Given the description of an element on the screen output the (x, y) to click on. 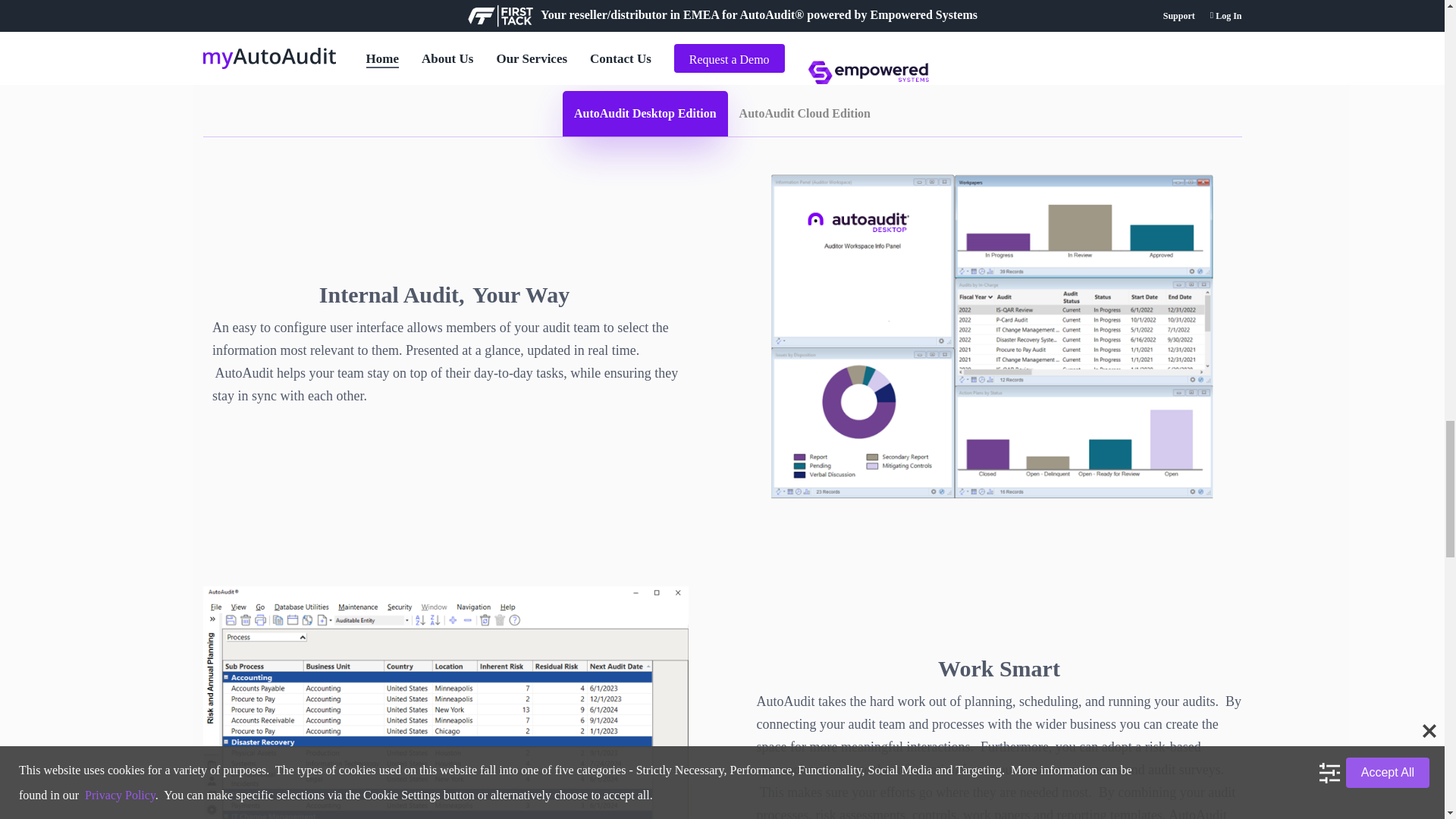
AutoAudit Cloud Edition (805, 113)
AutoAudit Desktop Edition (645, 113)
